Given the description of an element on the screen output the (x, y) to click on. 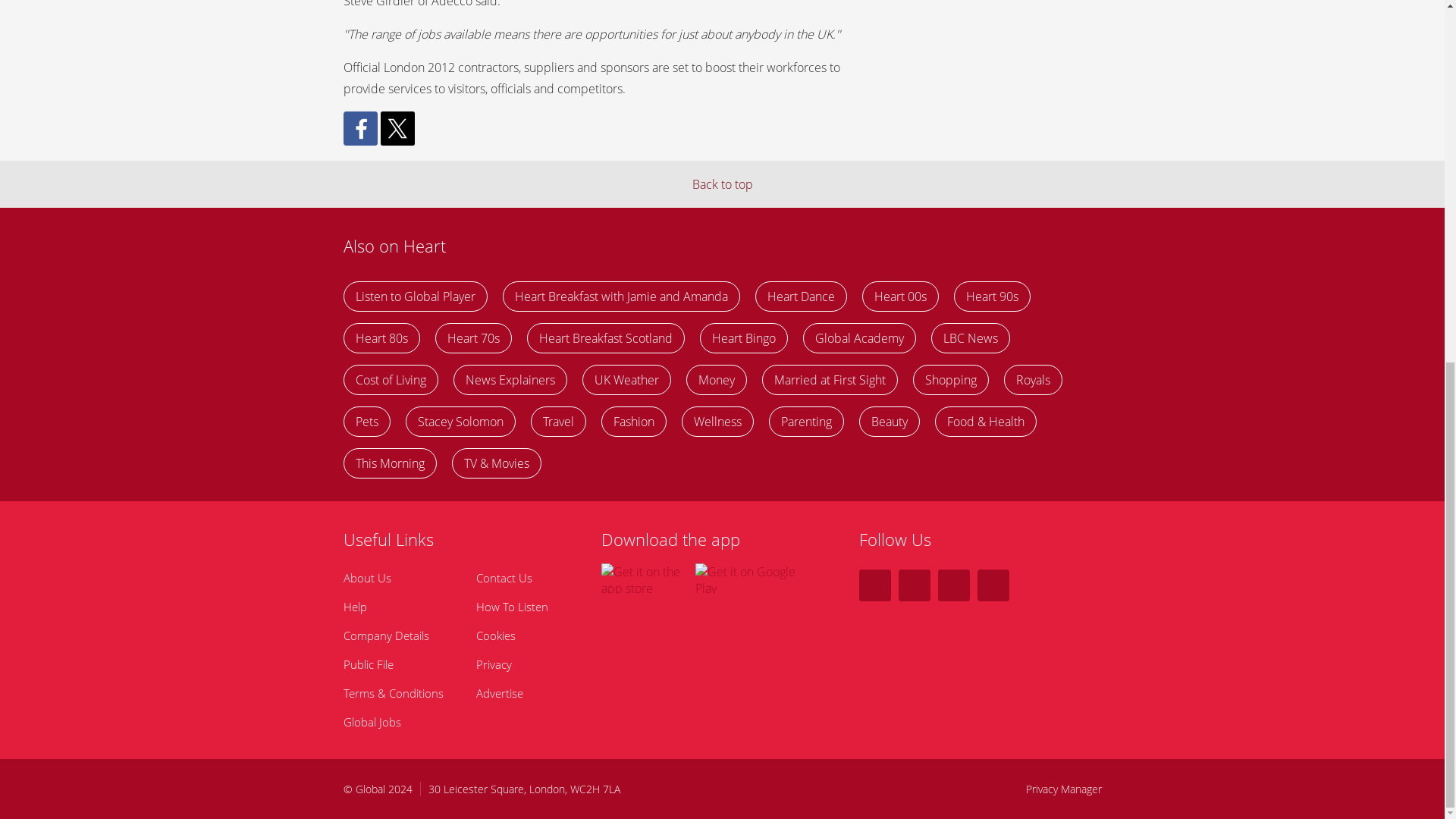
Follow Heart on Facebook (914, 585)
Follow Heart on X (874, 585)
Follow Heart on Instagram (953, 585)
Back to top (721, 184)
Follow Heart on Youtube (992, 585)
